Given the description of an element on the screen output the (x, y) to click on. 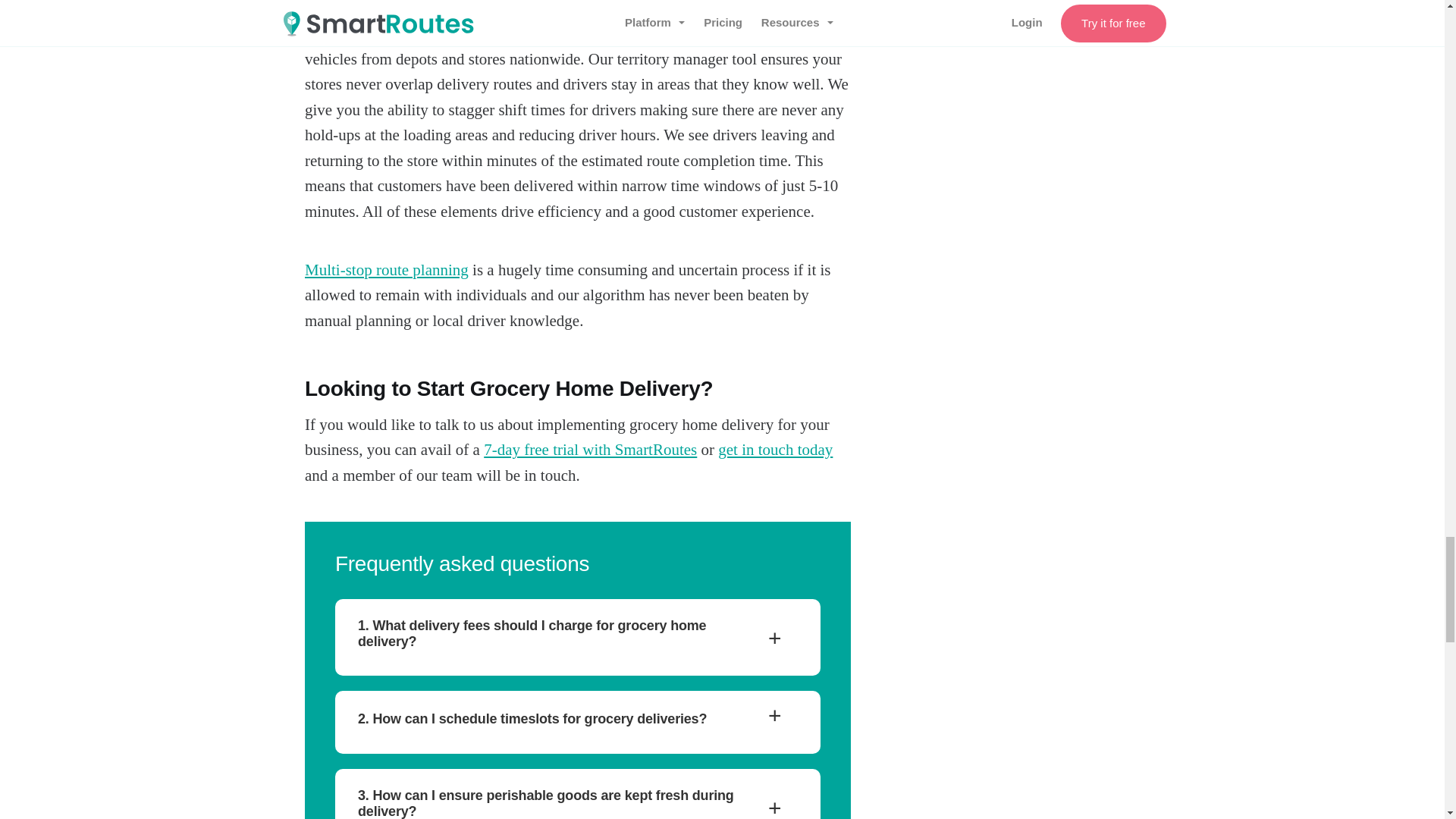
7-day free trial with SmartRoutes (590, 449)
get in touch today (774, 449)
Multi-stop route planning (386, 270)
